Given the description of an element on the screen output the (x, y) to click on. 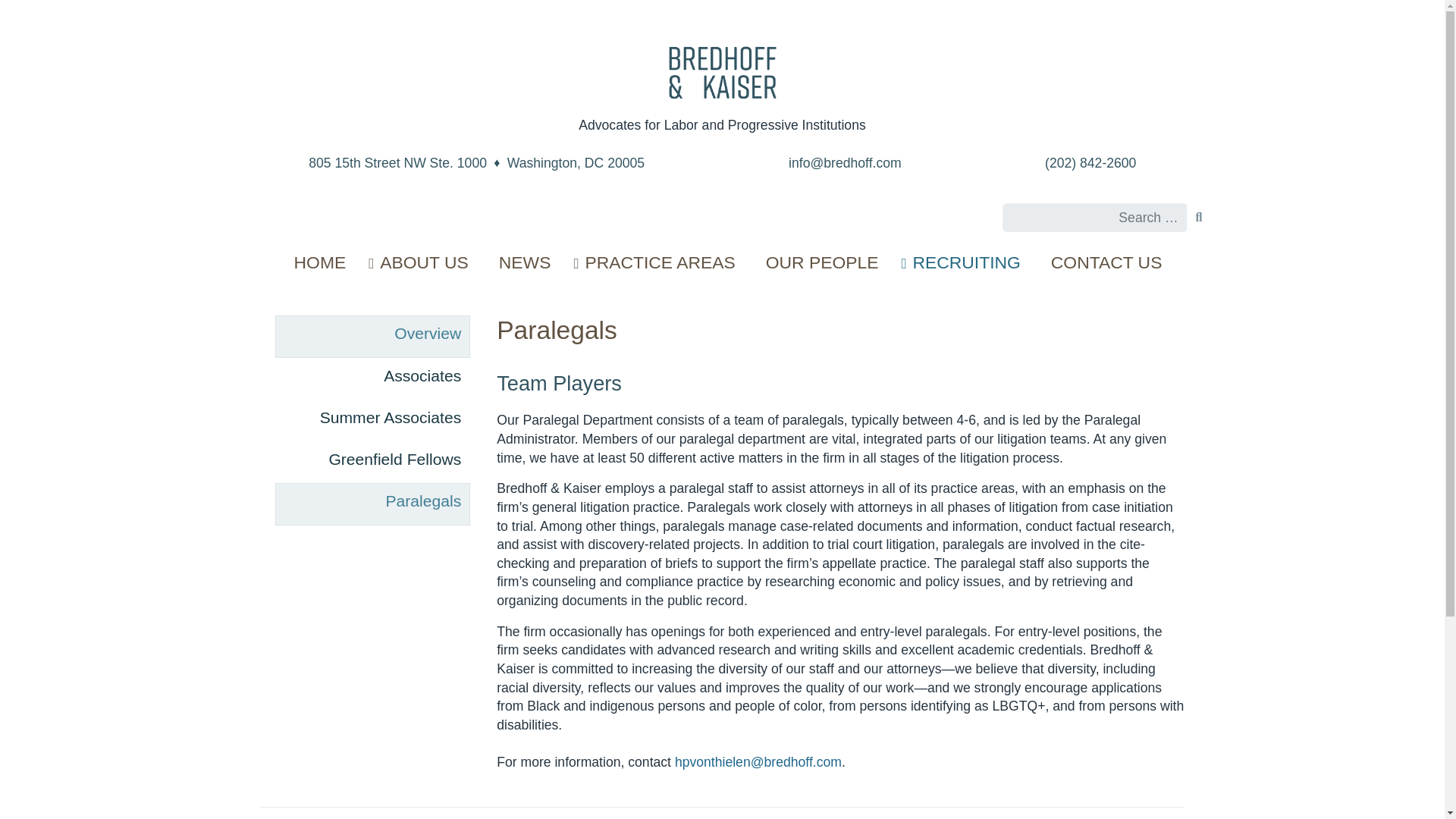
Overview (372, 336)
Link to About Us page. (421, 261)
ABOUT US (421, 261)
PRACTICE AREAS (658, 261)
HOME (320, 261)
OUR PEOPLE (821, 261)
Link to Home page. (320, 261)
Associates (372, 378)
Link to Practice Areas Section Overview. (658, 261)
Bredhoff and Kaiser logo. (721, 72)
NEWS (524, 261)
CONTACT US (1100, 261)
RECRUITING (964, 261)
Link to News section. (524, 261)
